Given the description of an element on the screen output the (x, y) to click on. 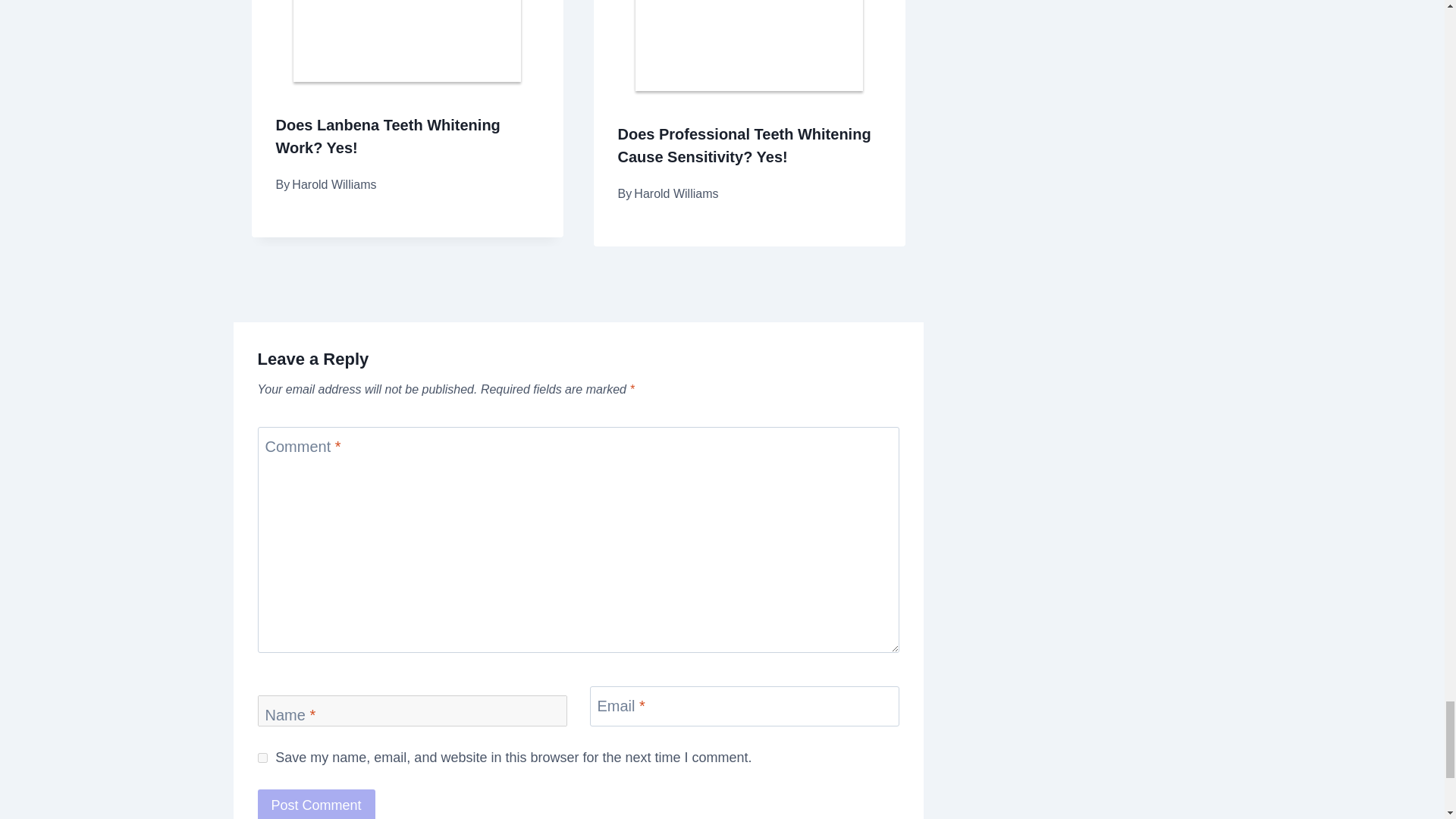
yes (262, 757)
Post Comment (316, 804)
